Given the description of an element on the screen output the (x, y) to click on. 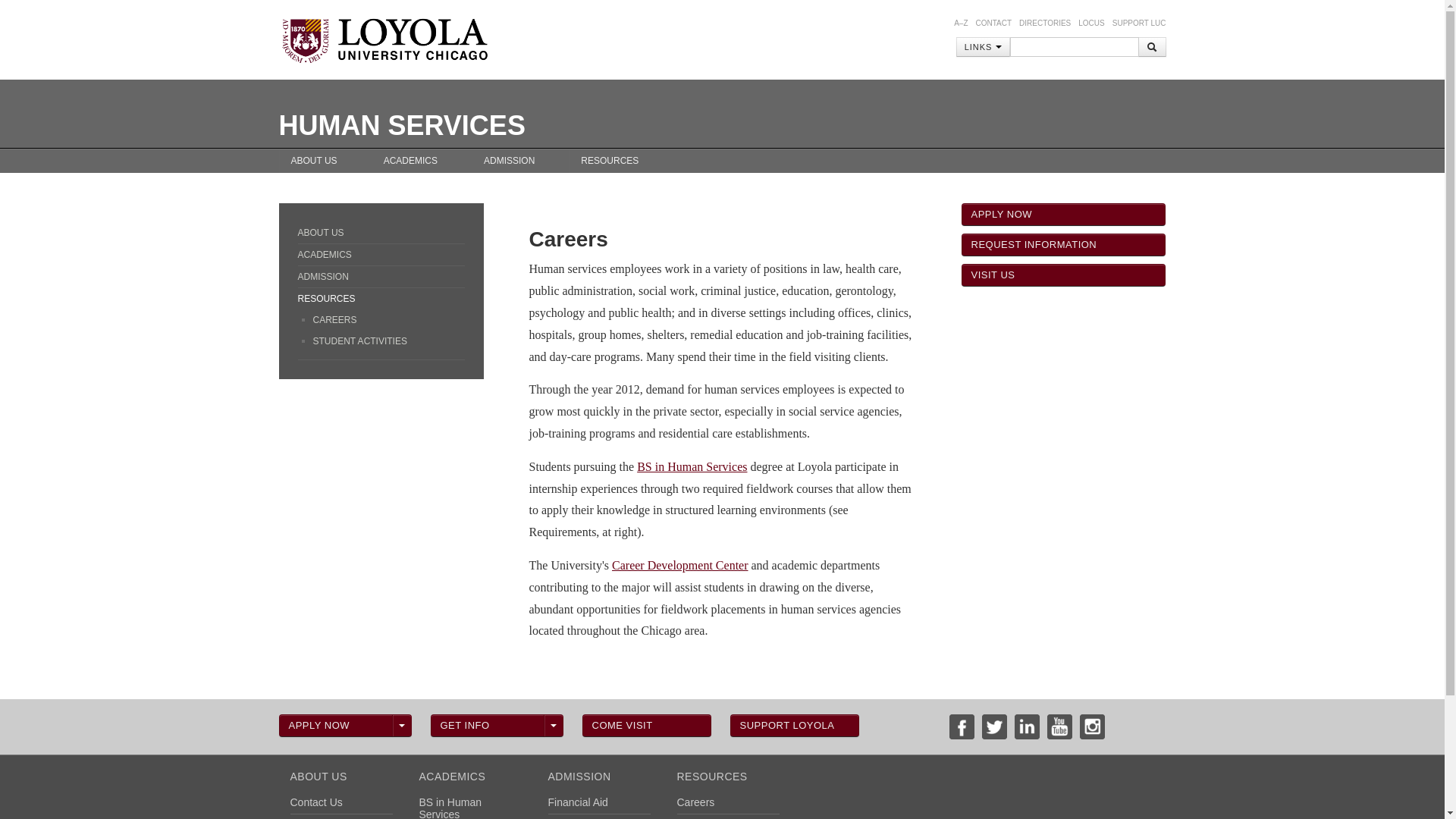
CONTACT (993, 22)
DIRECTORIES (1044, 22)
SUPPORT LUC (1139, 22)
Search Field (1074, 46)
LINKS (983, 46)
LOCUS (1090, 22)
